Given the description of an element on the screen output the (x, y) to click on. 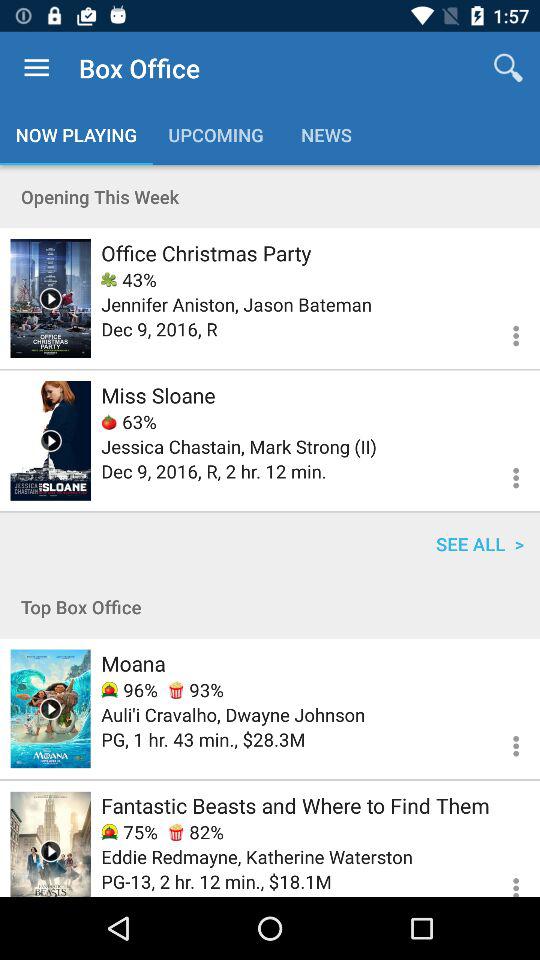
show options (503, 332)
